Given the description of an element on the screen output the (x, y) to click on. 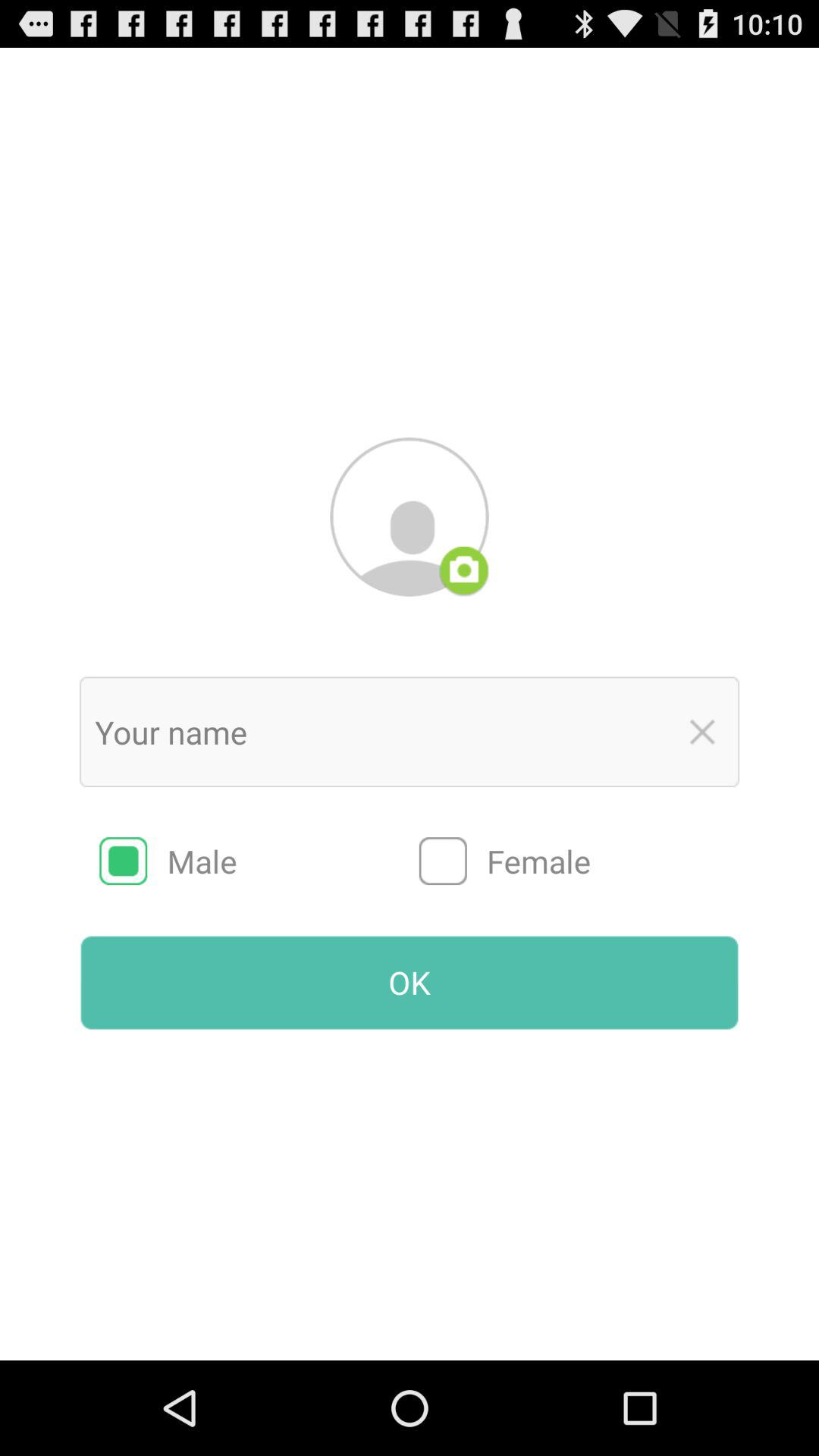
tap the icon next to the male (579, 860)
